Given the description of an element on the screen output the (x, y) to click on. 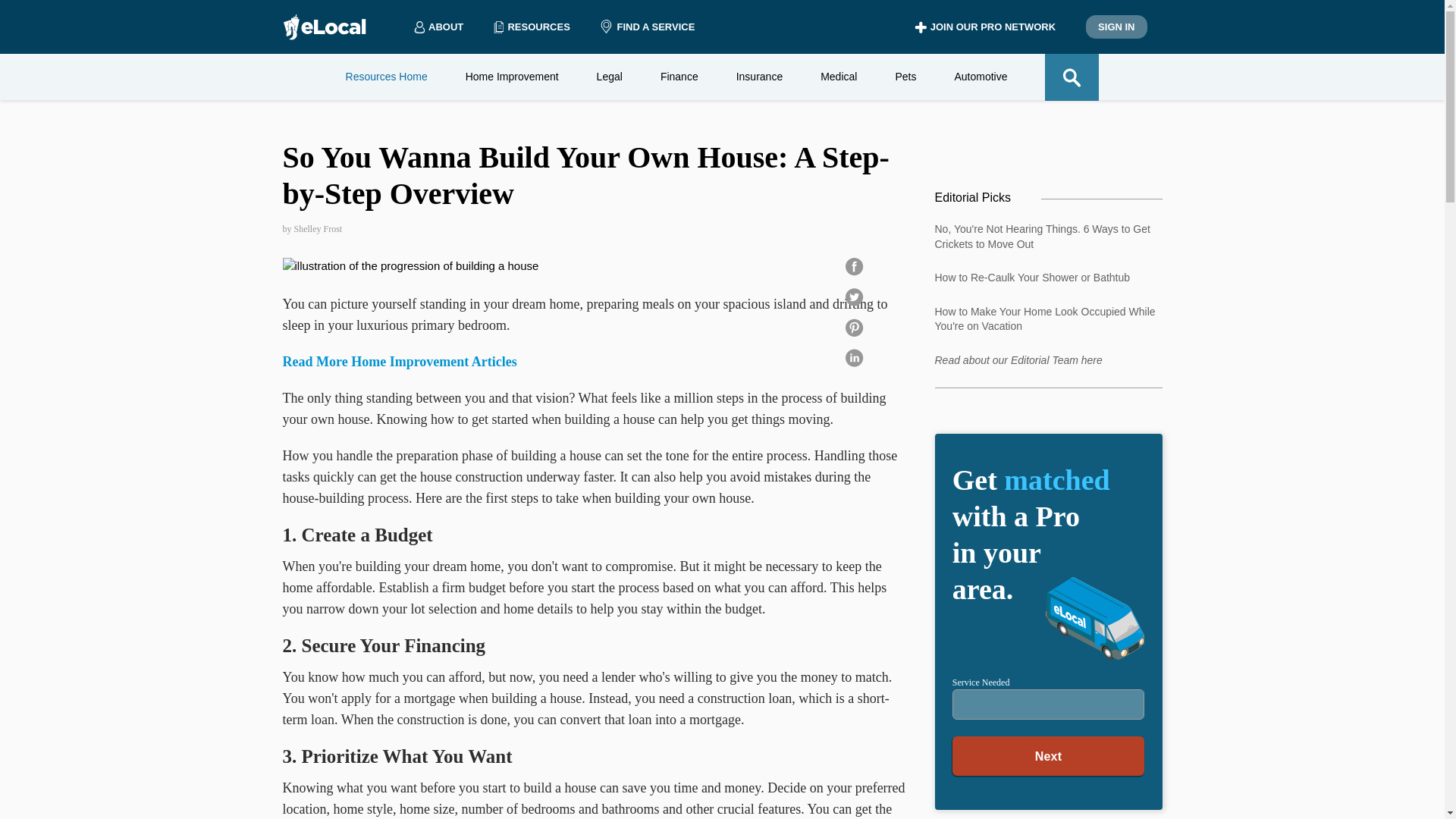
SIGN IN (1116, 27)
FIND A SERVICE (646, 27)
